Given the description of an element on the screen output the (x, y) to click on. 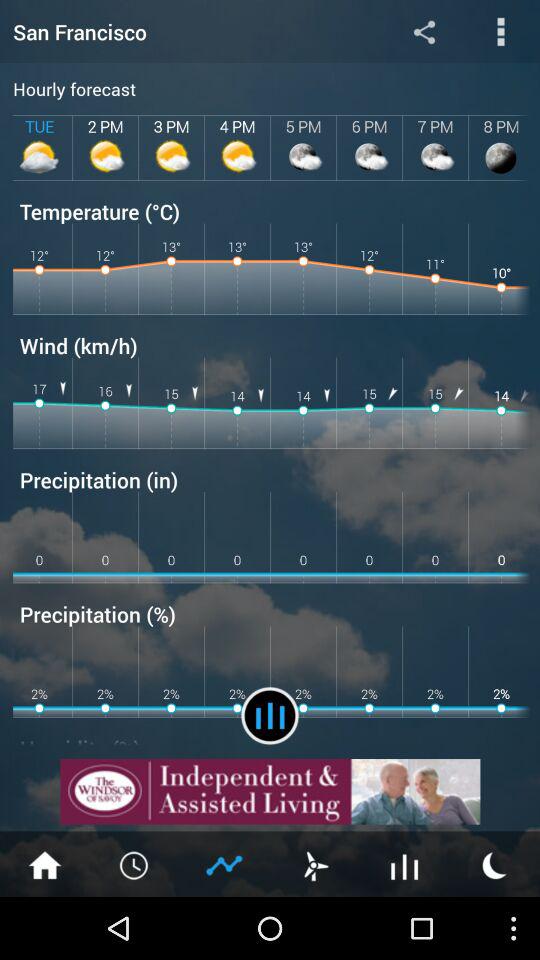
add timer (135, 864)
